Given the description of an element on the screen output the (x, y) to click on. 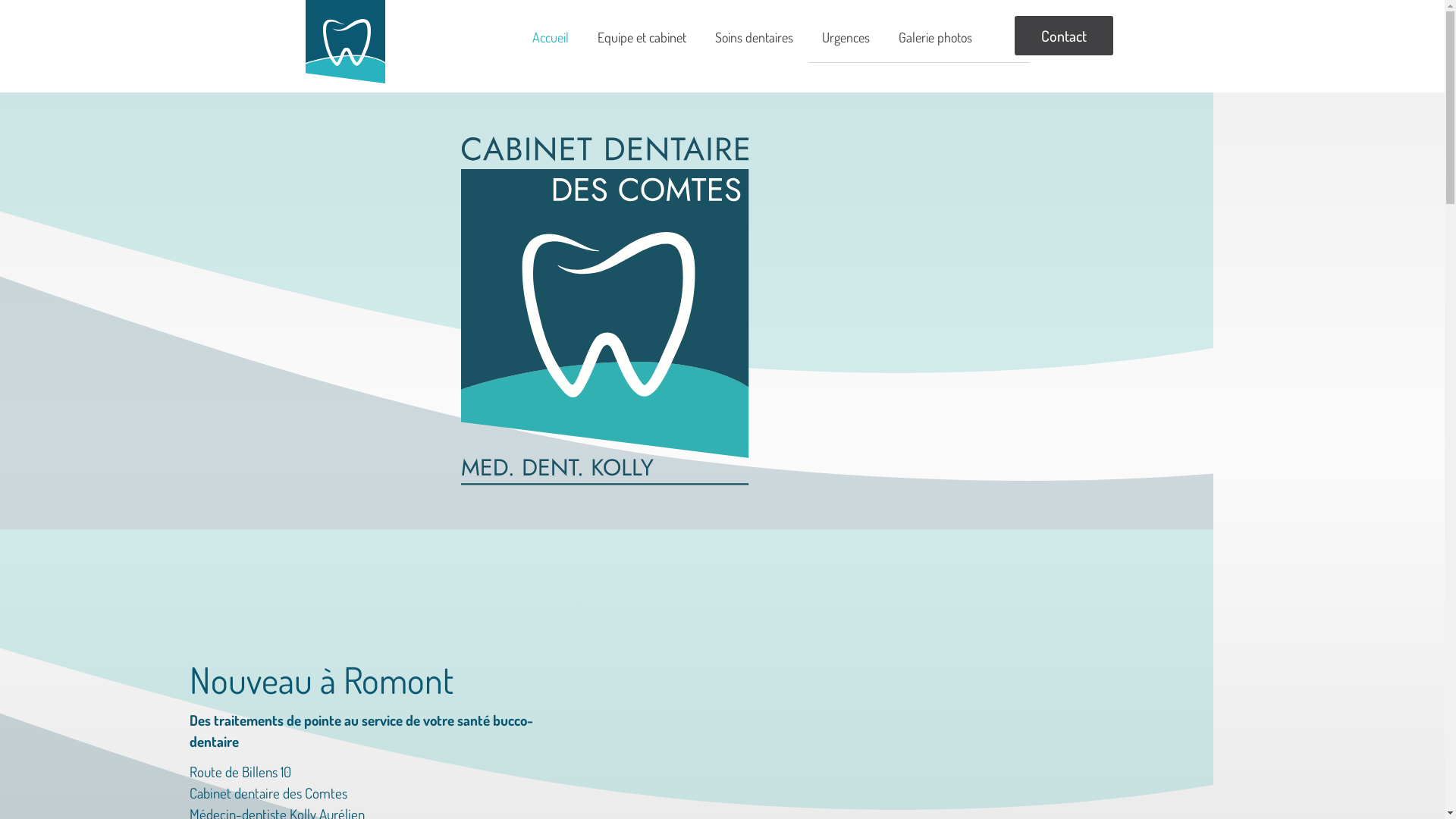
Contact Element type: text (1063, 35)
Equipe et cabinet Element type: text (640, 36)
Accueil Element type: text (549, 36)
Soins dentaires Element type: text (754, 36)
cabinetdescomtes.ch Element type: text (344, 41)
Galerie photos Element type: text (935, 36)
Urgences Element type: text (844, 36)
